Given the description of an element on the screen output the (x, y) to click on. 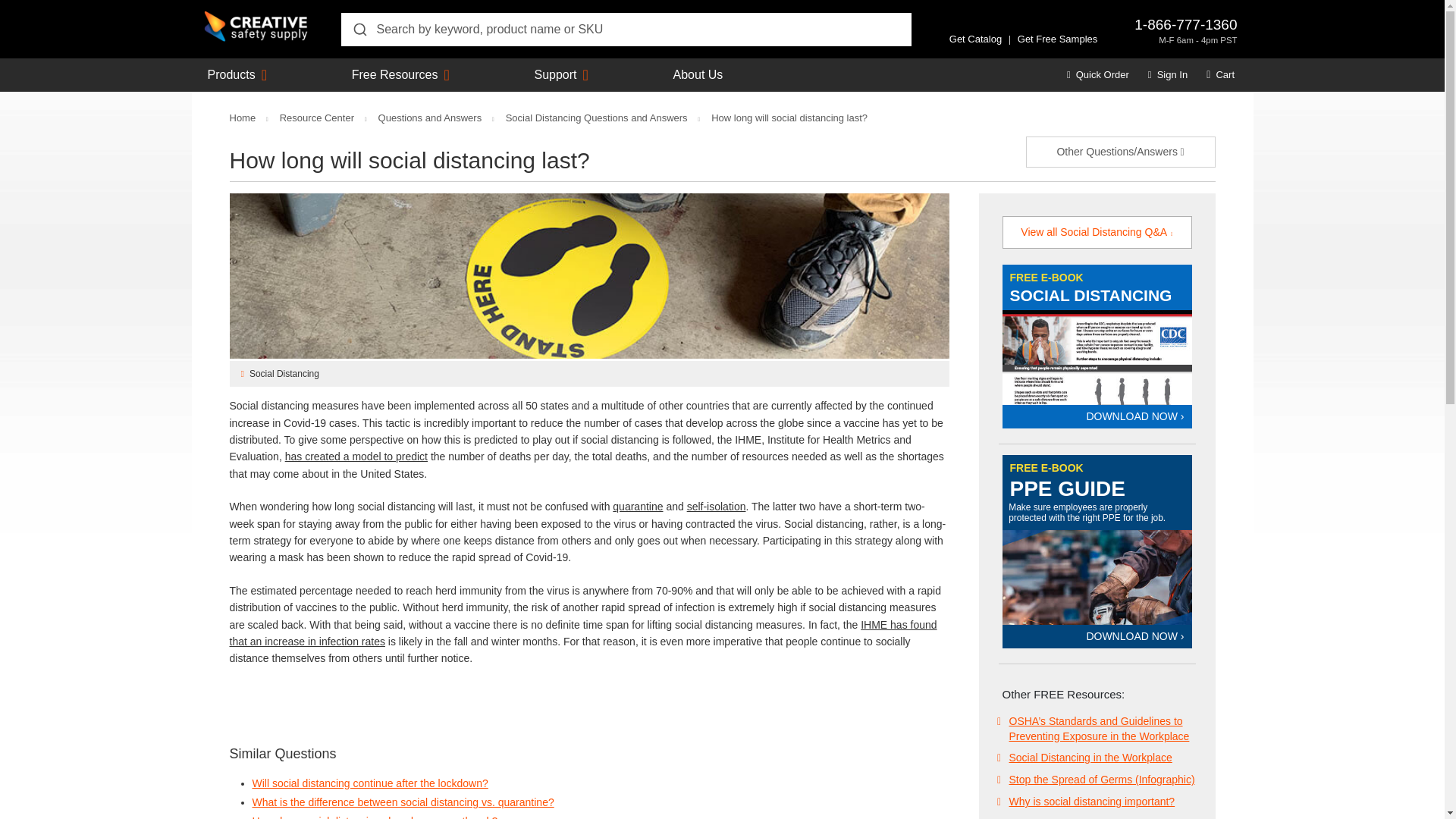
Get Catalog (975, 39)
Creative Safety Supply logo (255, 26)
Products (232, 74)
Get Free Samples (1057, 39)
1-866-777-1360 (1185, 24)
